Given the description of an element on the screen output the (x, y) to click on. 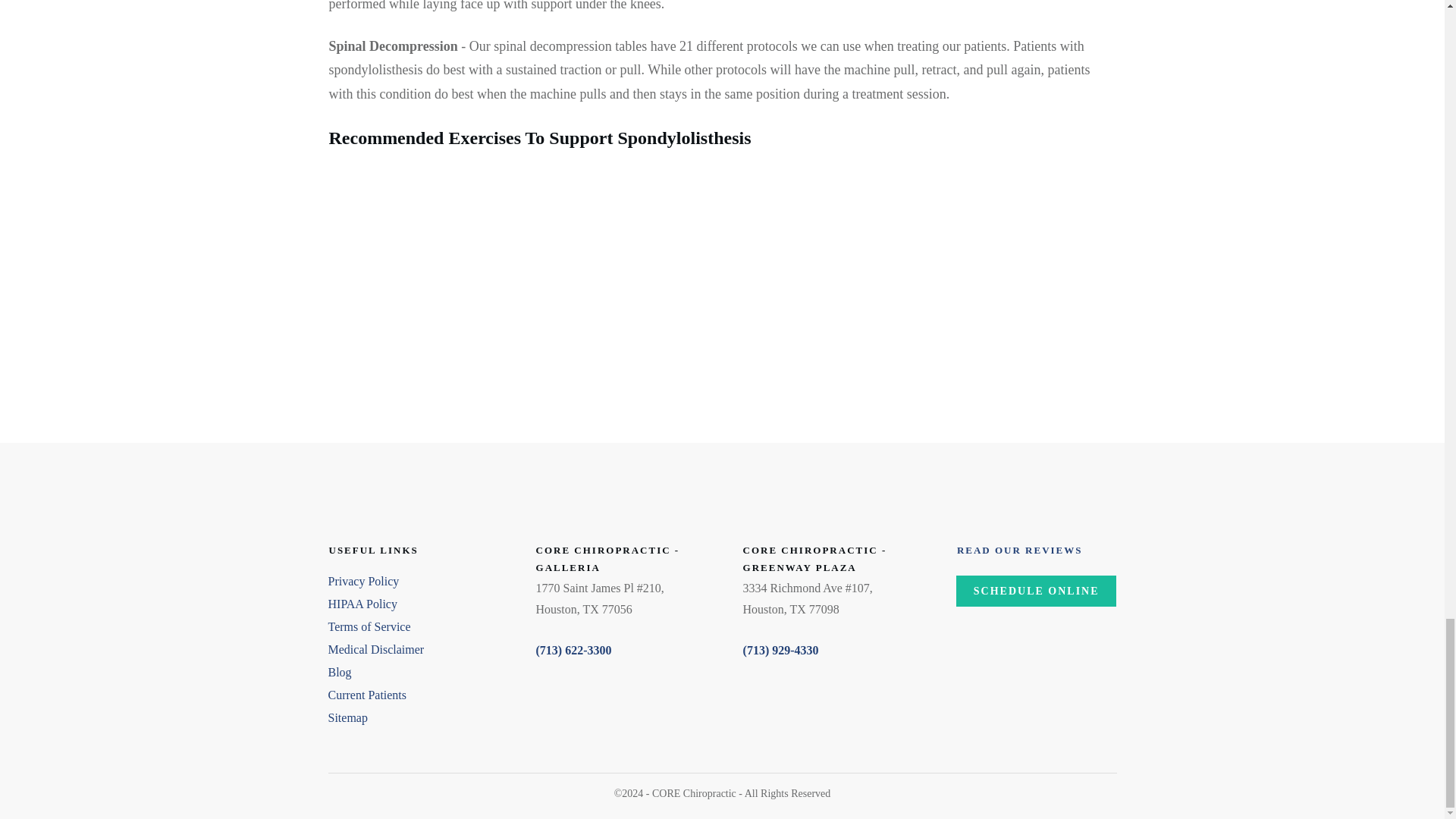
Terms of Service (368, 626)
Current Patients (366, 694)
Blog (338, 671)
Medical Disclaimer (375, 649)
READ OUR REVIEWS (1019, 550)
Responsive Video (522, 280)
Responsive Video (922, 280)
HIPAA Policy (361, 603)
Privacy Policy (362, 581)
Sitemap (346, 717)
SCHEDULE ONLINE (1036, 591)
